Given the description of an element on the screen output the (x, y) to click on. 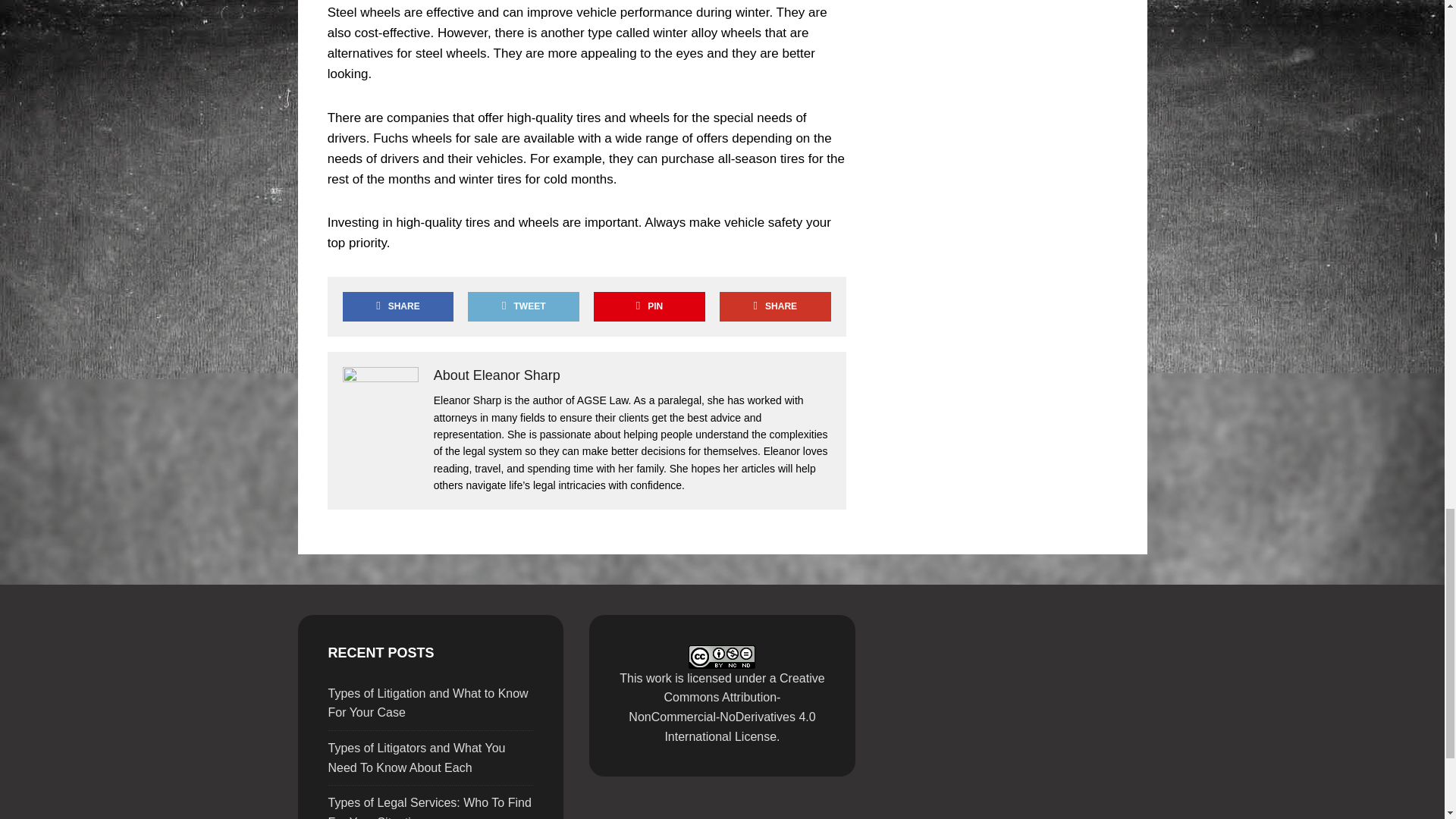
Types of Legal Services: Who To Find For Your Situation (429, 807)
TWEET (522, 306)
PIN (649, 306)
Share on Facebook (397, 306)
Pin This Post (649, 306)
About Eleanor Sharp (496, 375)
SHARE (397, 306)
Types of Litigation and What to Know For Your Case (427, 703)
Tweet This Post (522, 306)
